Given the description of an element on the screen output the (x, y) to click on. 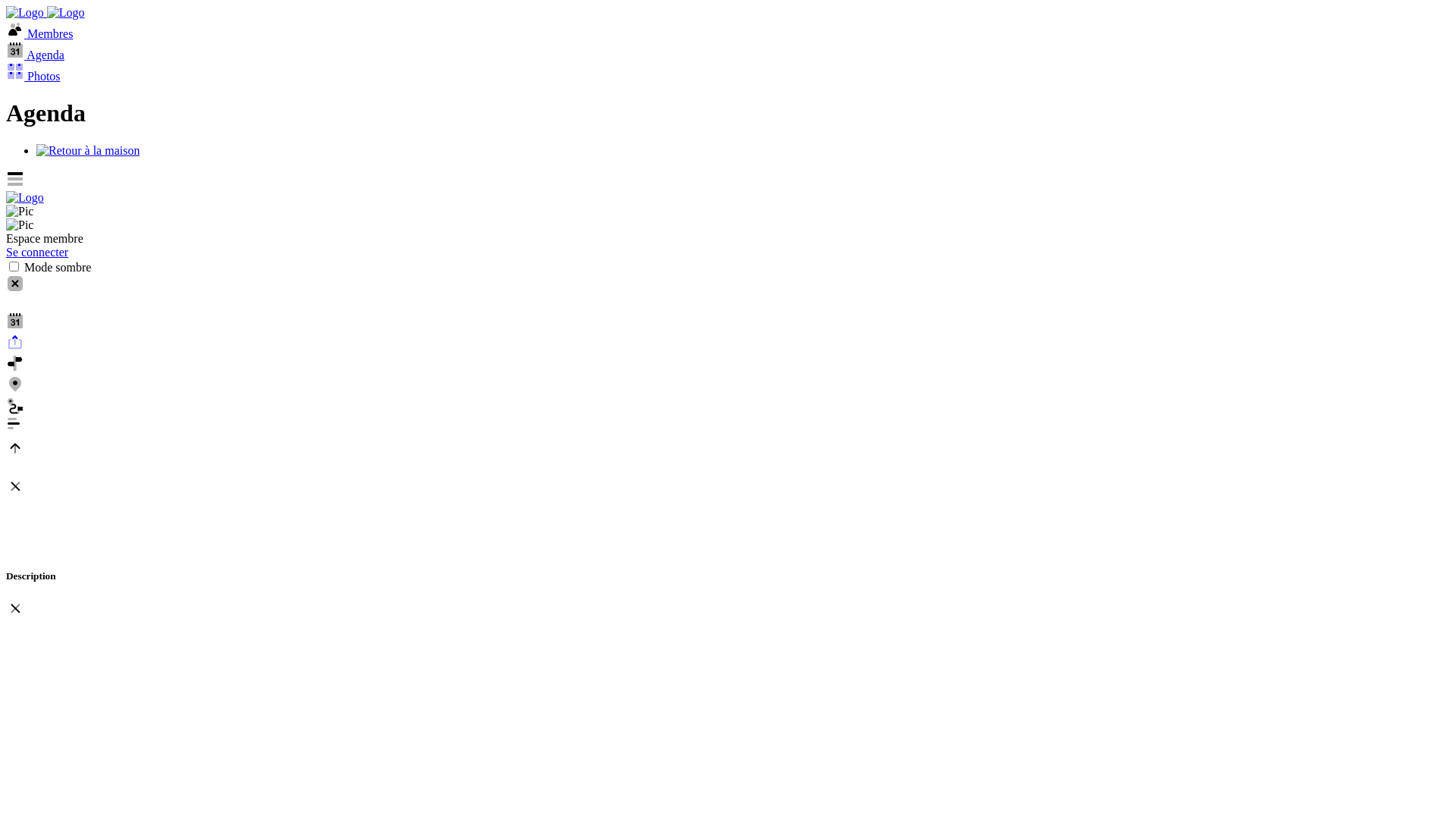
Photos Element type: text (33, 75)
Membres Element type: text (39, 33)
Agenda Element type: text (35, 54)
Se connecter Element type: text (37, 251)
